Given the description of an element on the screen output the (x, y) to click on. 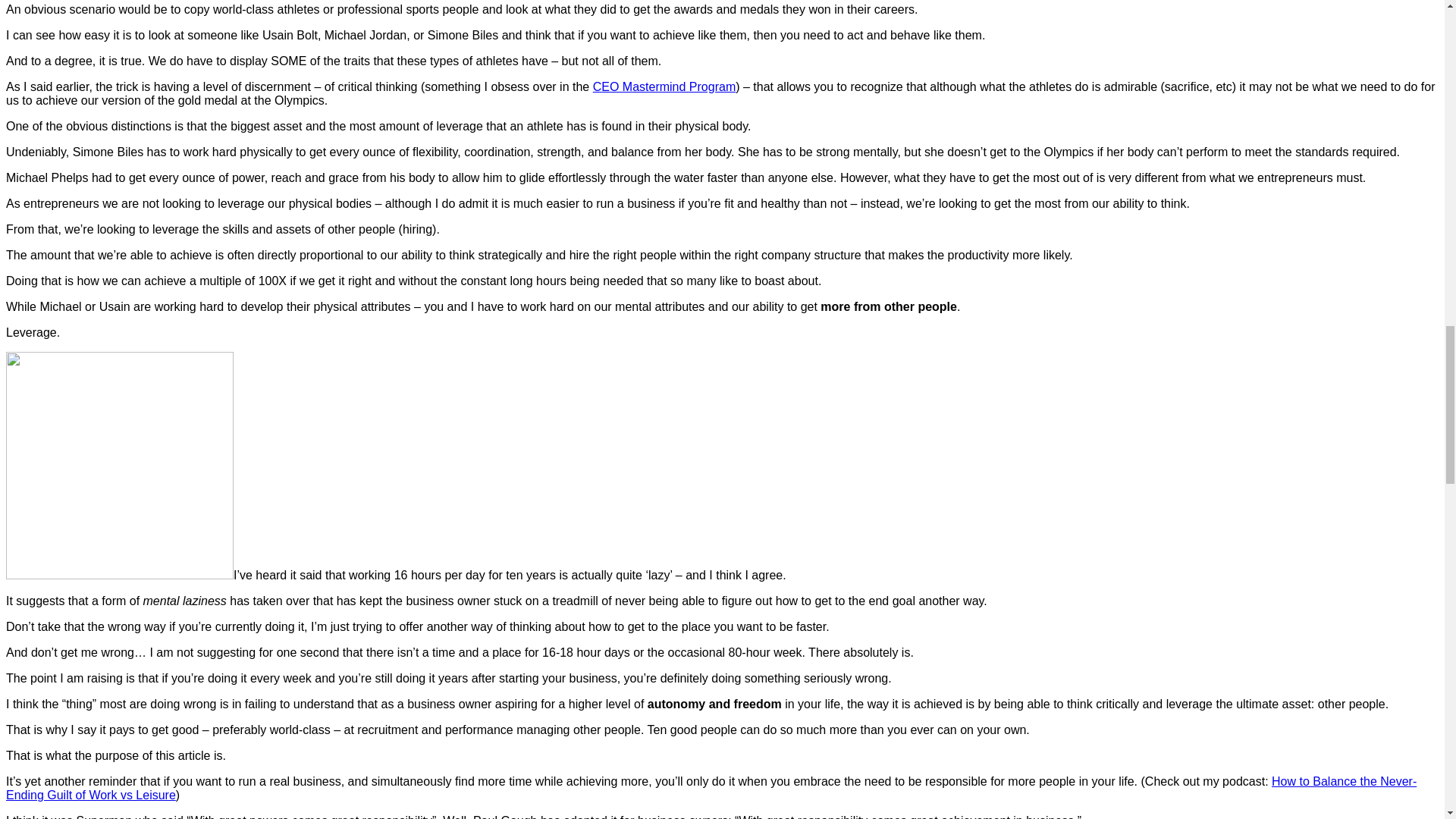
EO Mastermind Program (668, 86)
How to Balance the Never-Ending Guilt of Work vs Leisure (710, 787)
